Given the description of an element on the screen output the (x, y) to click on. 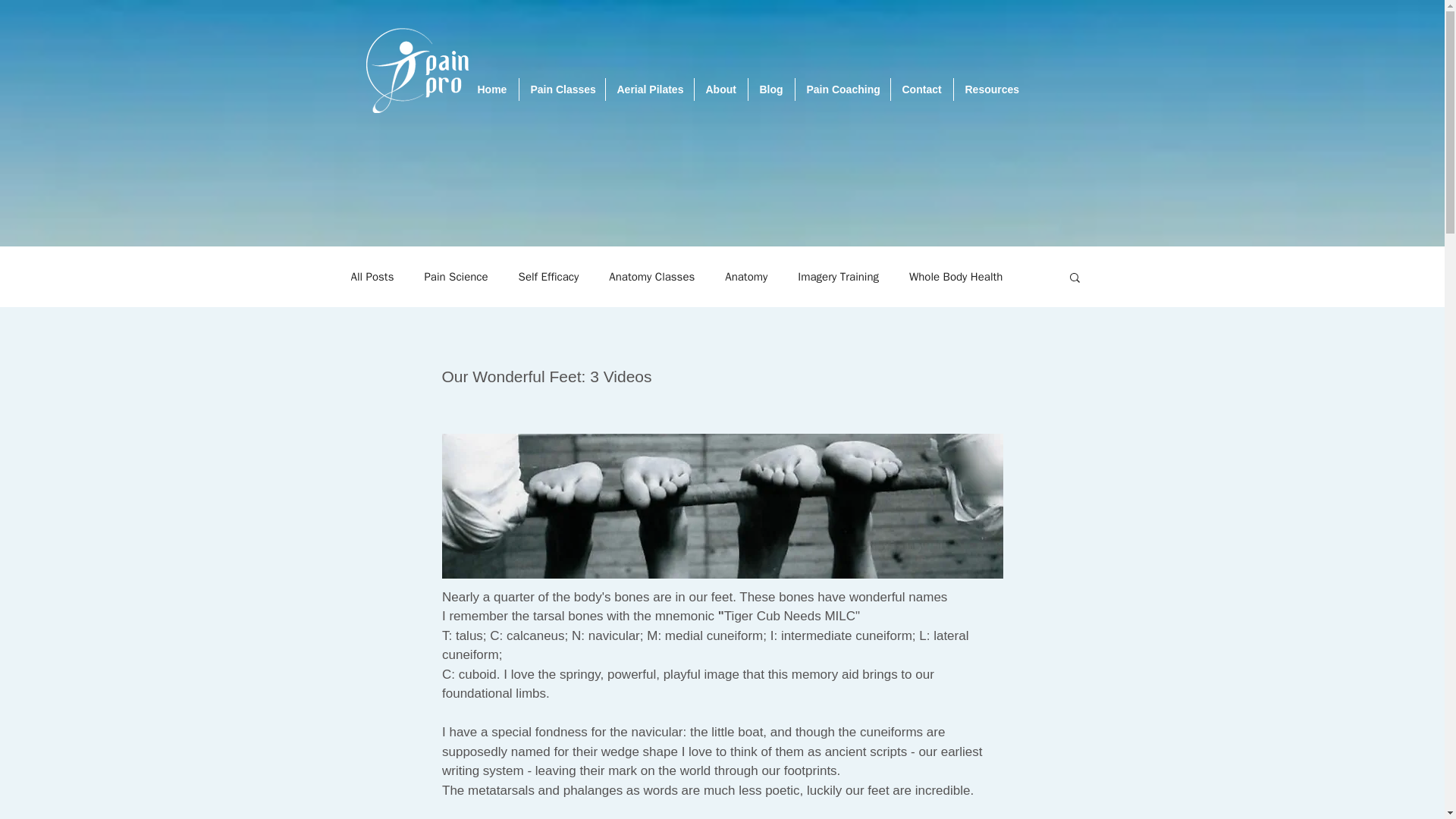
Imagery Training (838, 277)
Aerial Pilates (649, 88)
About (721, 88)
Blog (770, 88)
All Posts (371, 277)
Resources (991, 88)
Pain Classes (561, 88)
Whole Body Health (955, 277)
Self Efficacy (548, 277)
Pain Coaching (841, 88)
